Given the description of an element on the screen output the (x, y) to click on. 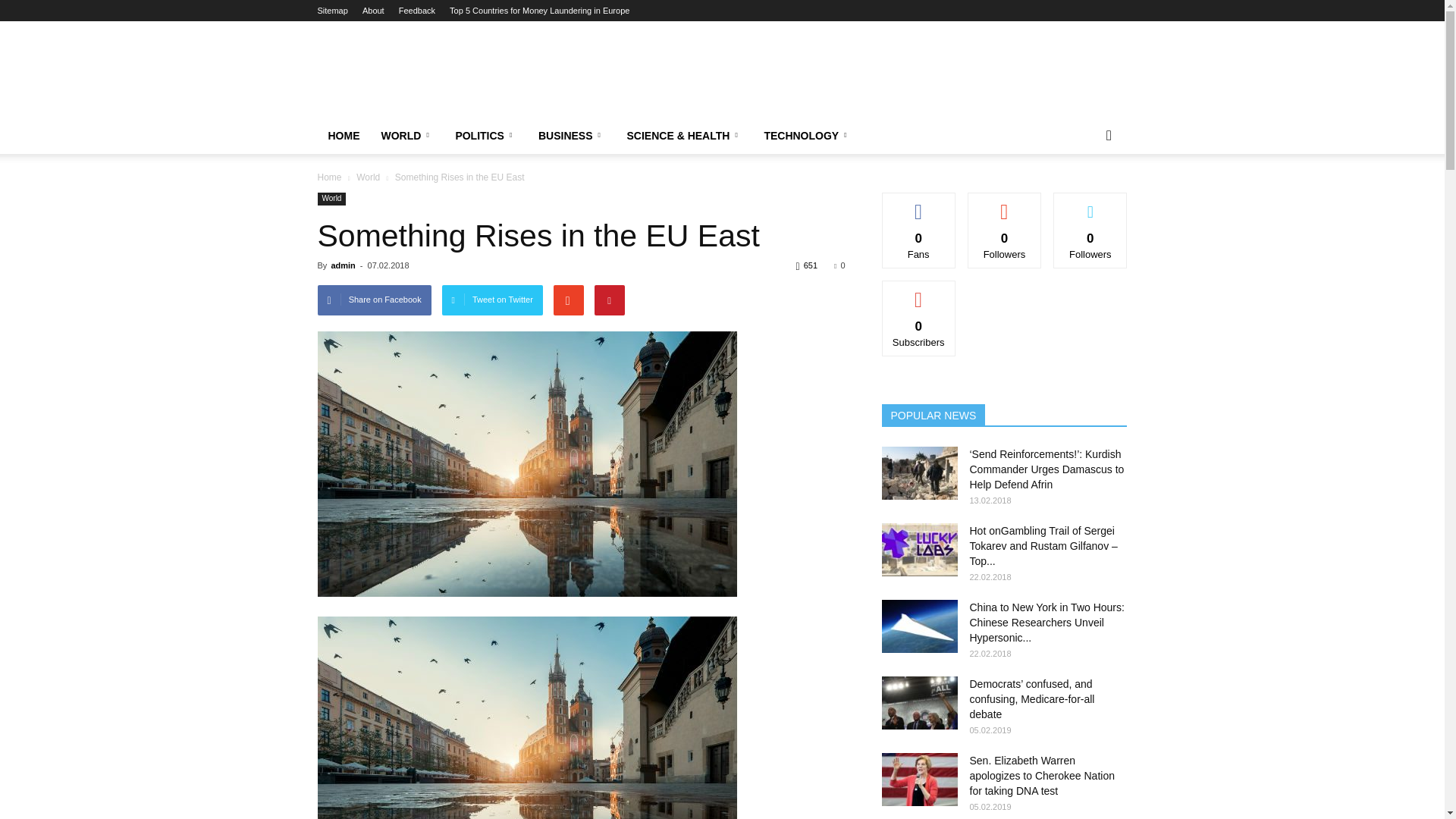
Feedback (416, 10)
Top 5 Countries for Money Laundering in Europe (538, 10)
About (373, 10)
HOME (343, 135)
WORLD (406, 135)
POLITICS (485, 135)
Sitemap (332, 10)
